Given the description of an element on the screen output the (x, y) to click on. 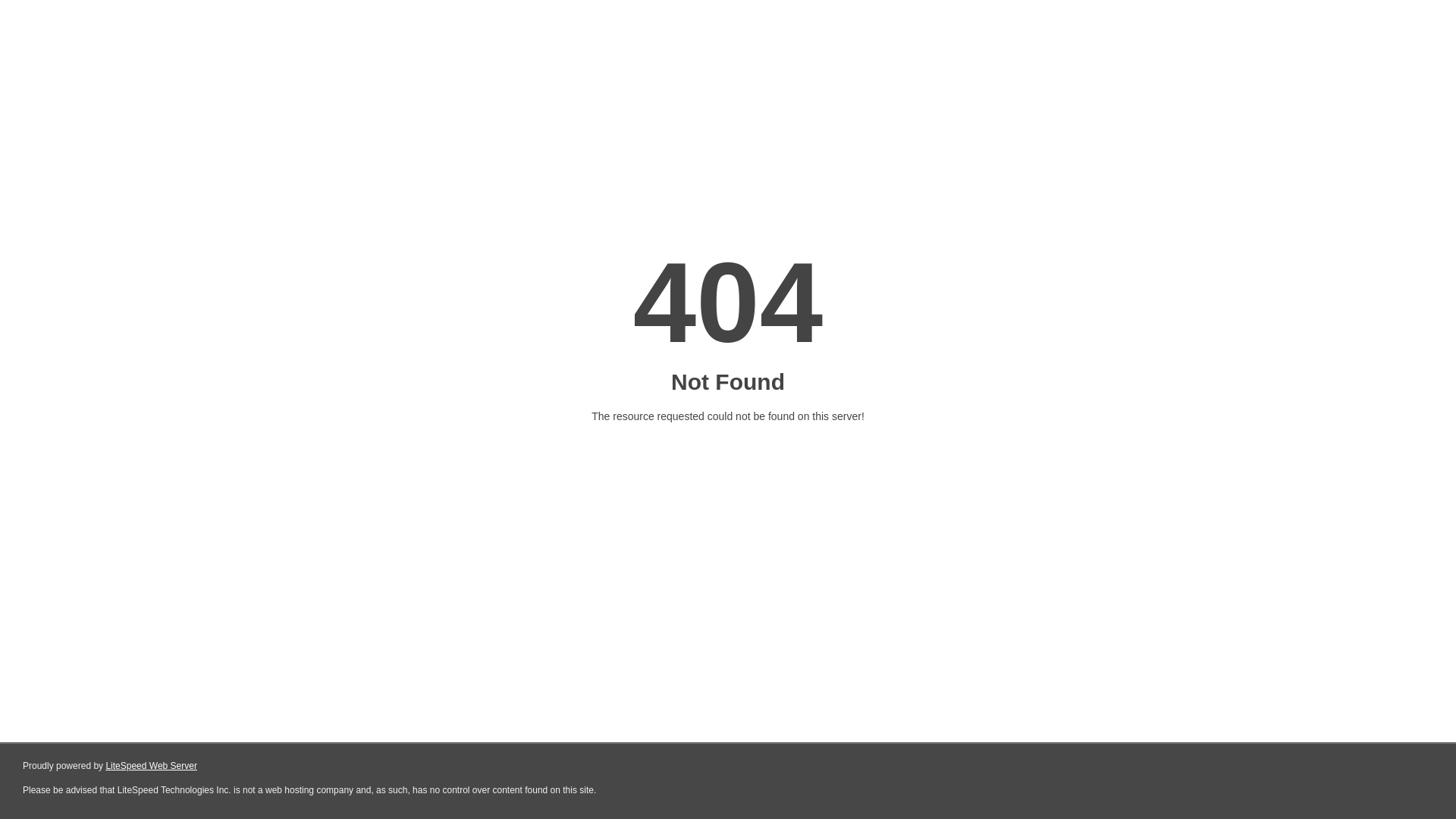
LiteSpeed Web Server Element type: text (151, 765)
